Given the description of an element on the screen output the (x, y) to click on. 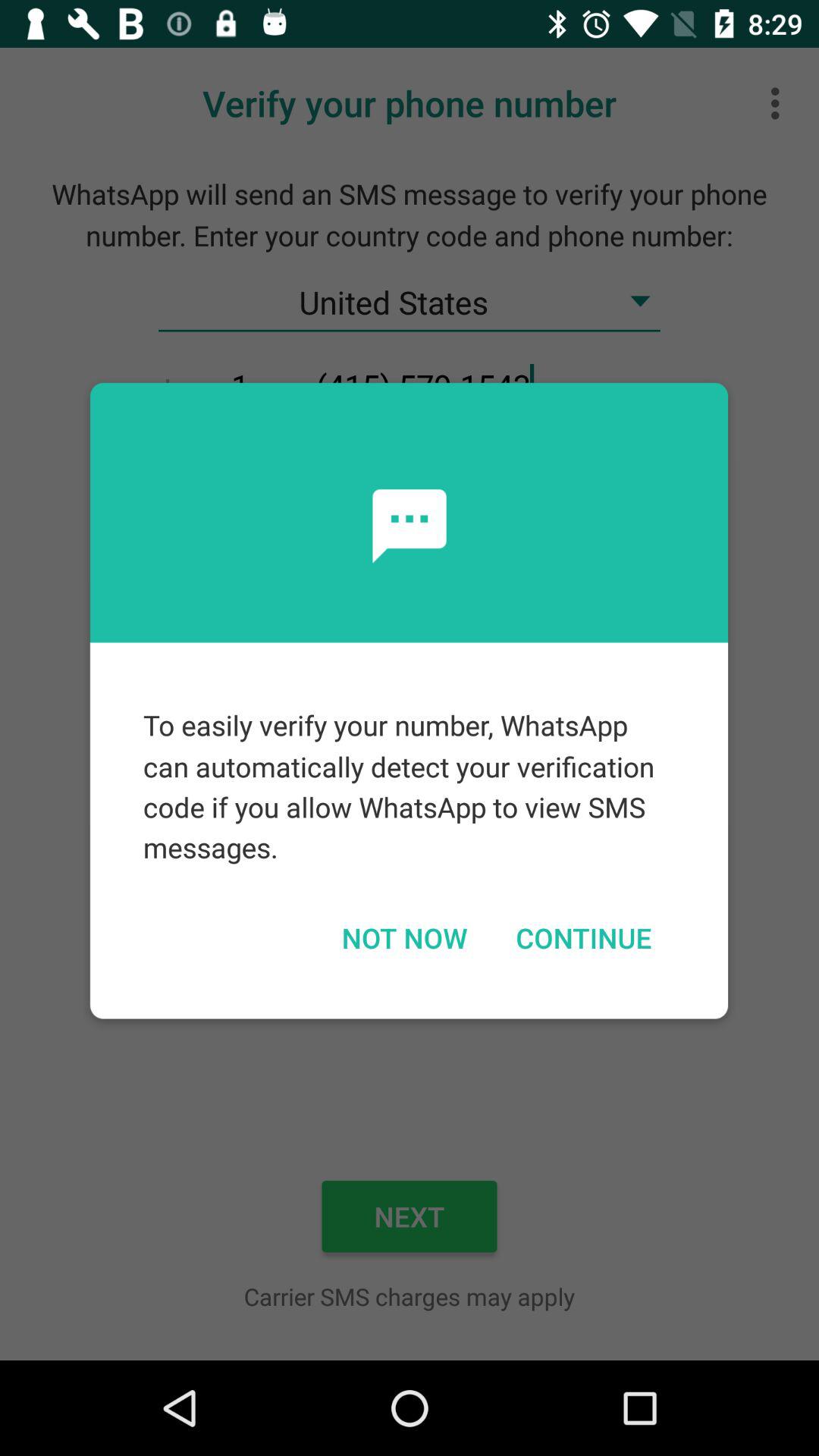
turn on the item next to not now item (583, 937)
